Given the description of an element on the screen output the (x, y) to click on. 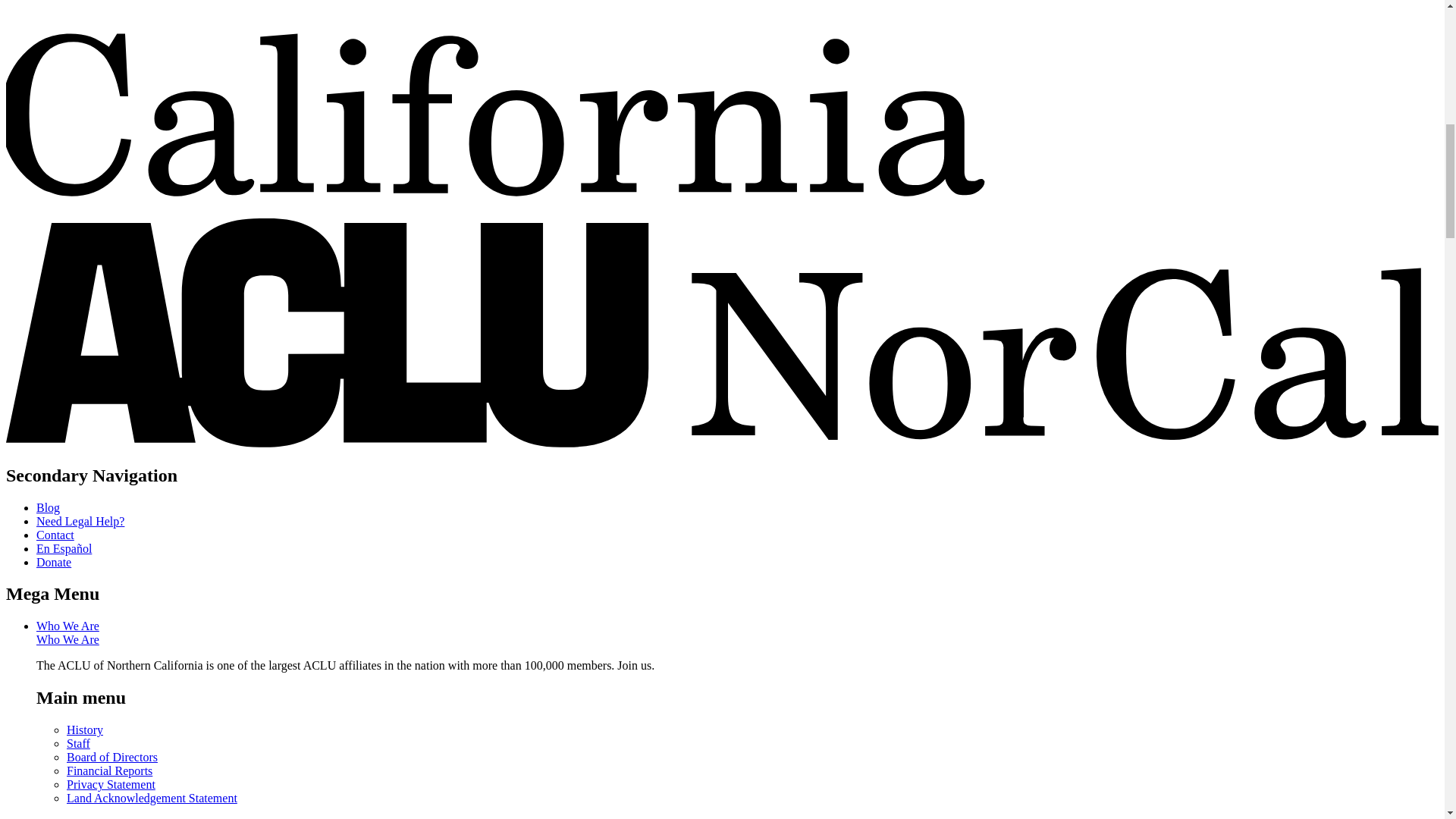
Land Acknowledgement Statement (151, 797)
Need Legal Help? (79, 520)
Financial Reports (109, 770)
Contact (55, 533)
Staff (78, 743)
Who We Are (67, 625)
History (84, 729)
Donate (53, 561)
Who We Are (67, 639)
Privacy Statement (110, 784)
